Given the description of an element on the screen output the (x, y) to click on. 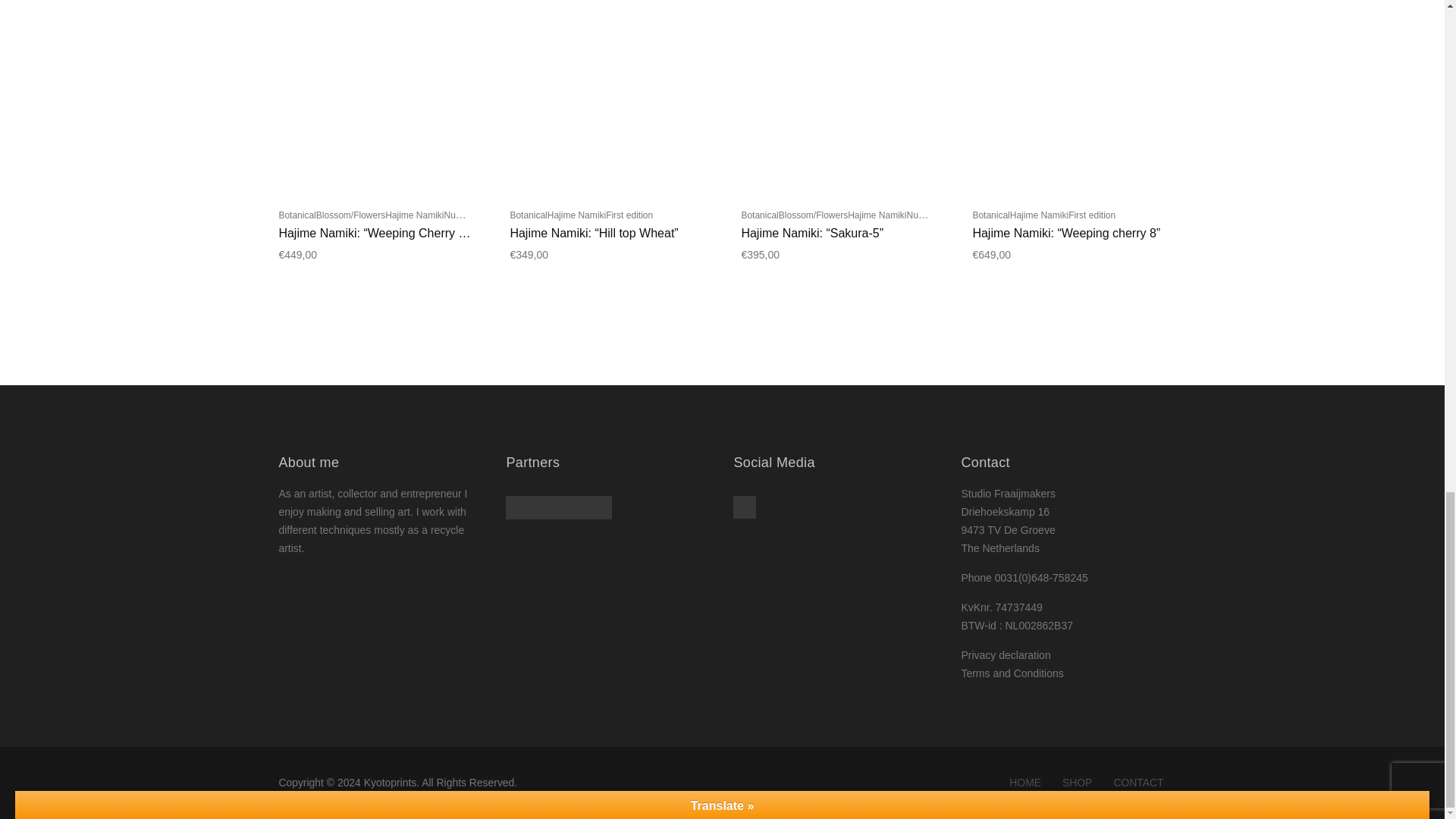
Botanical (528, 214)
Botanical (759, 214)
Hajime Namiki (576, 214)
First edition (628, 214)
Hajime Namiki (876, 214)
Hajime Namiki (414, 214)
Numbered edition (479, 214)
Numbered edition (941, 214)
Botanical (296, 214)
